Given the description of an element on the screen output the (x, y) to click on. 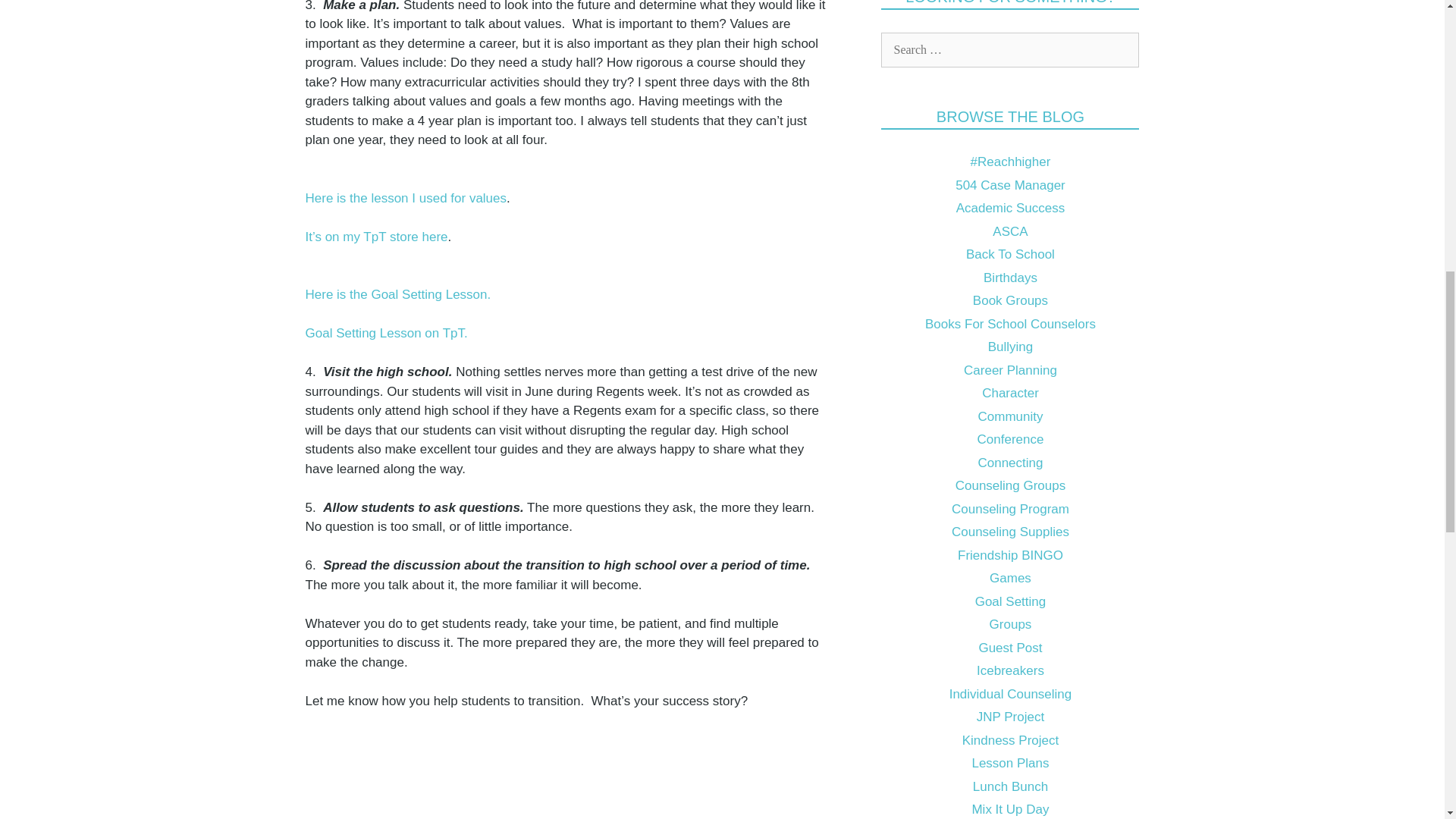
Goal Setting Lesson on TpT. (385, 332)
Search for: (1009, 49)
Academic Success (1010, 207)
Books For School Counselors (1010, 323)
Book Groups (1010, 300)
ASCA (1009, 231)
Birthdays (1010, 278)
504 Case Manager (1010, 185)
Here is the Goal Setting Lesson. (397, 294)
Here is the lesson I used for values (405, 197)
